Given the description of an element on the screen output the (x, y) to click on. 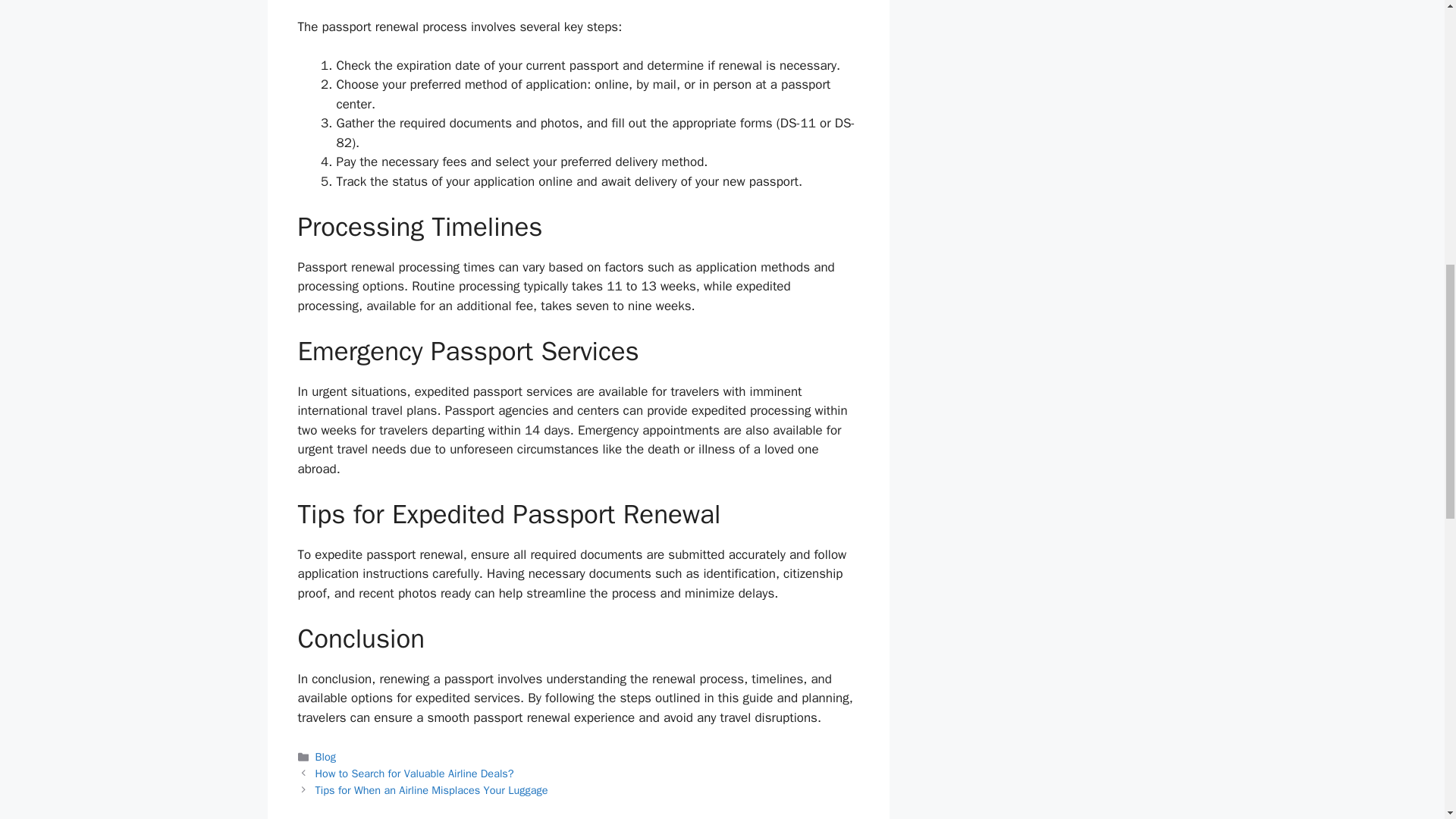
How to Search for Valuable Airline Deals? (414, 773)
Blog (325, 756)
Tips for When an Airline Misplaces Your Luggage (431, 789)
